Given the description of an element on the screen output the (x, y) to click on. 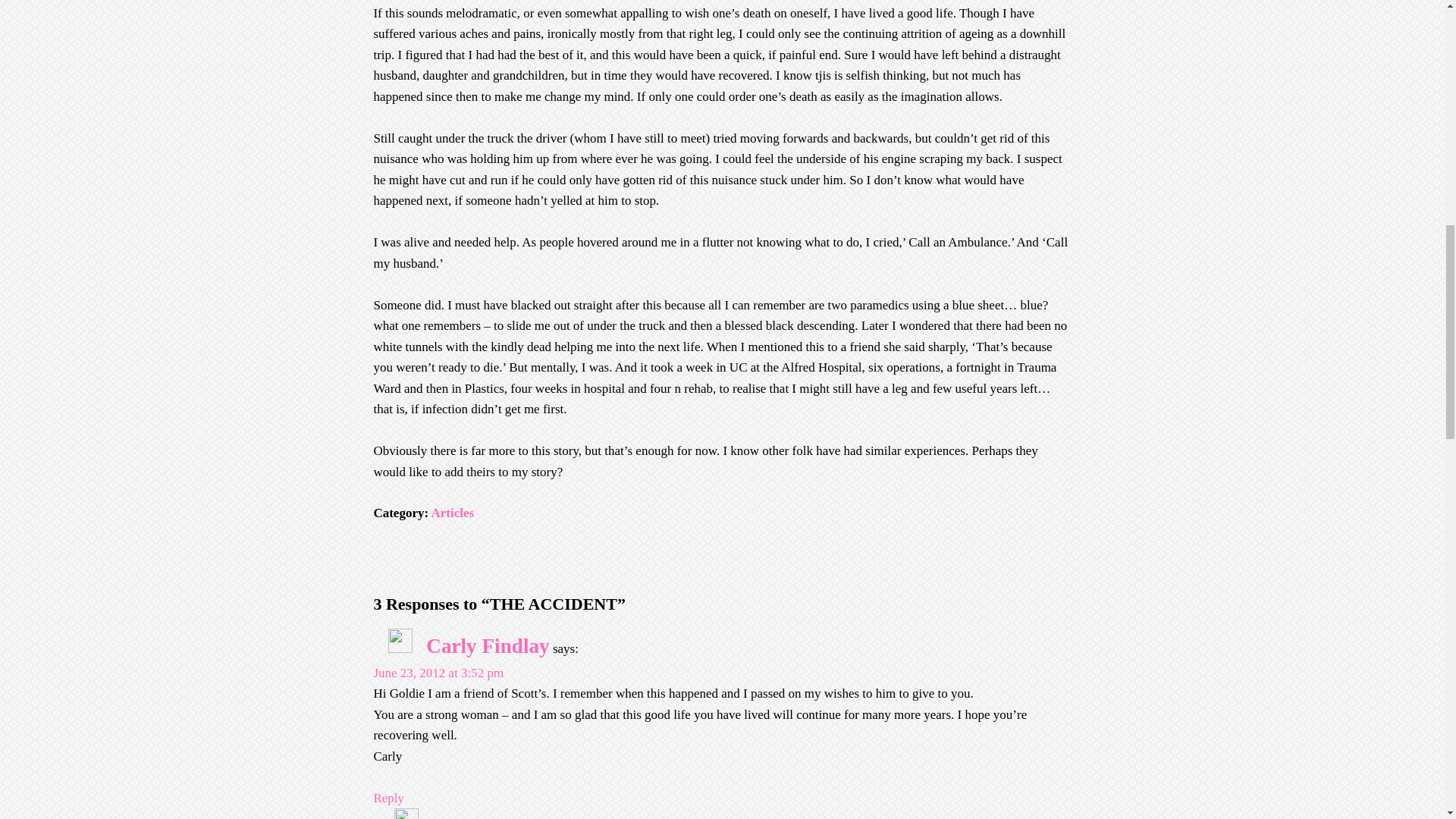
Ira (446, 816)
June 23, 2012 at 3:52 pm (437, 672)
Articles (452, 513)
Reply (388, 798)
Carly Findlay (487, 646)
